Given the description of an element on the screen output the (x, y) to click on. 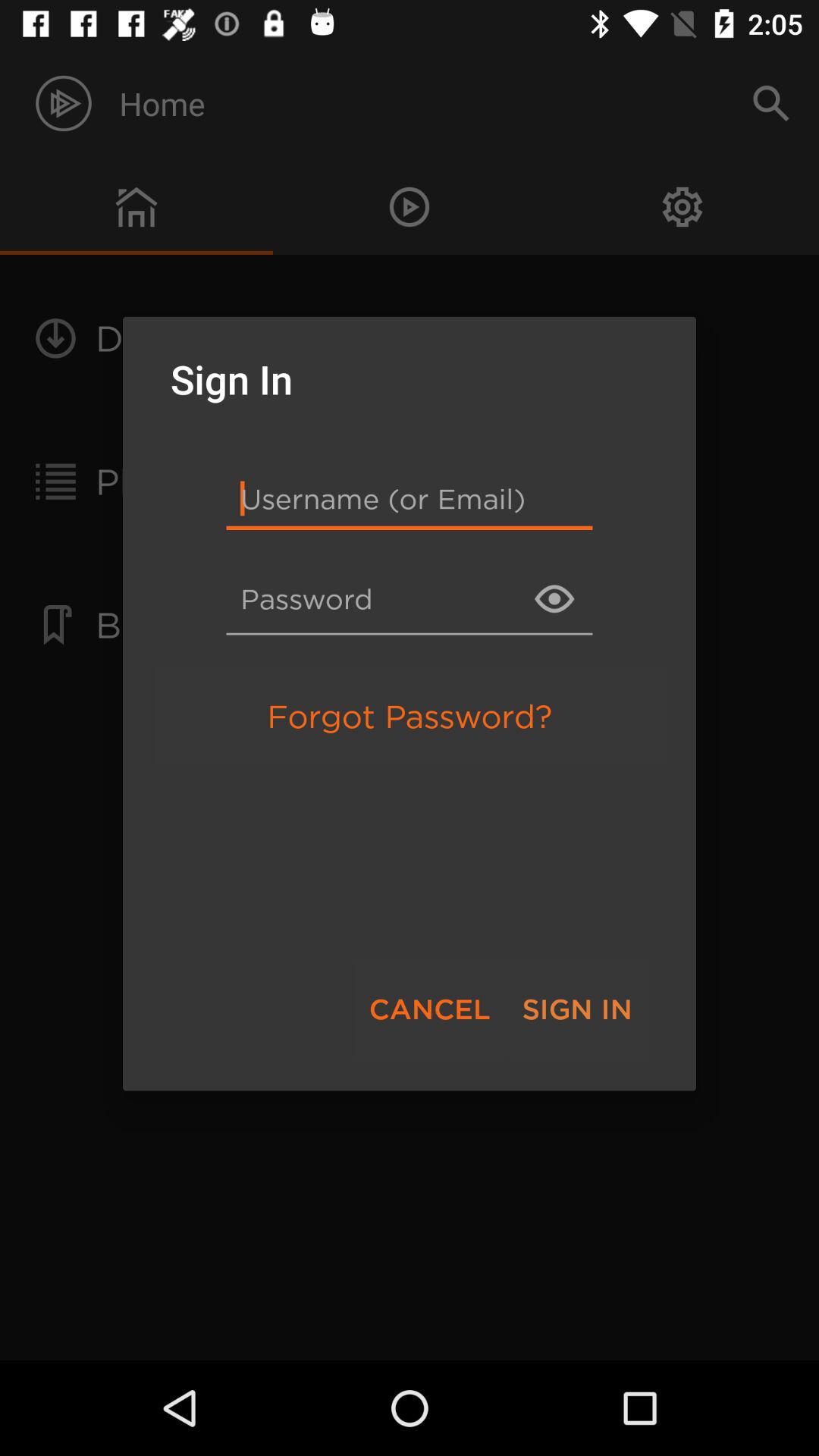
swipe until the forgot password? item (409, 716)
